Given the description of an element on the screen output the (x, y) to click on. 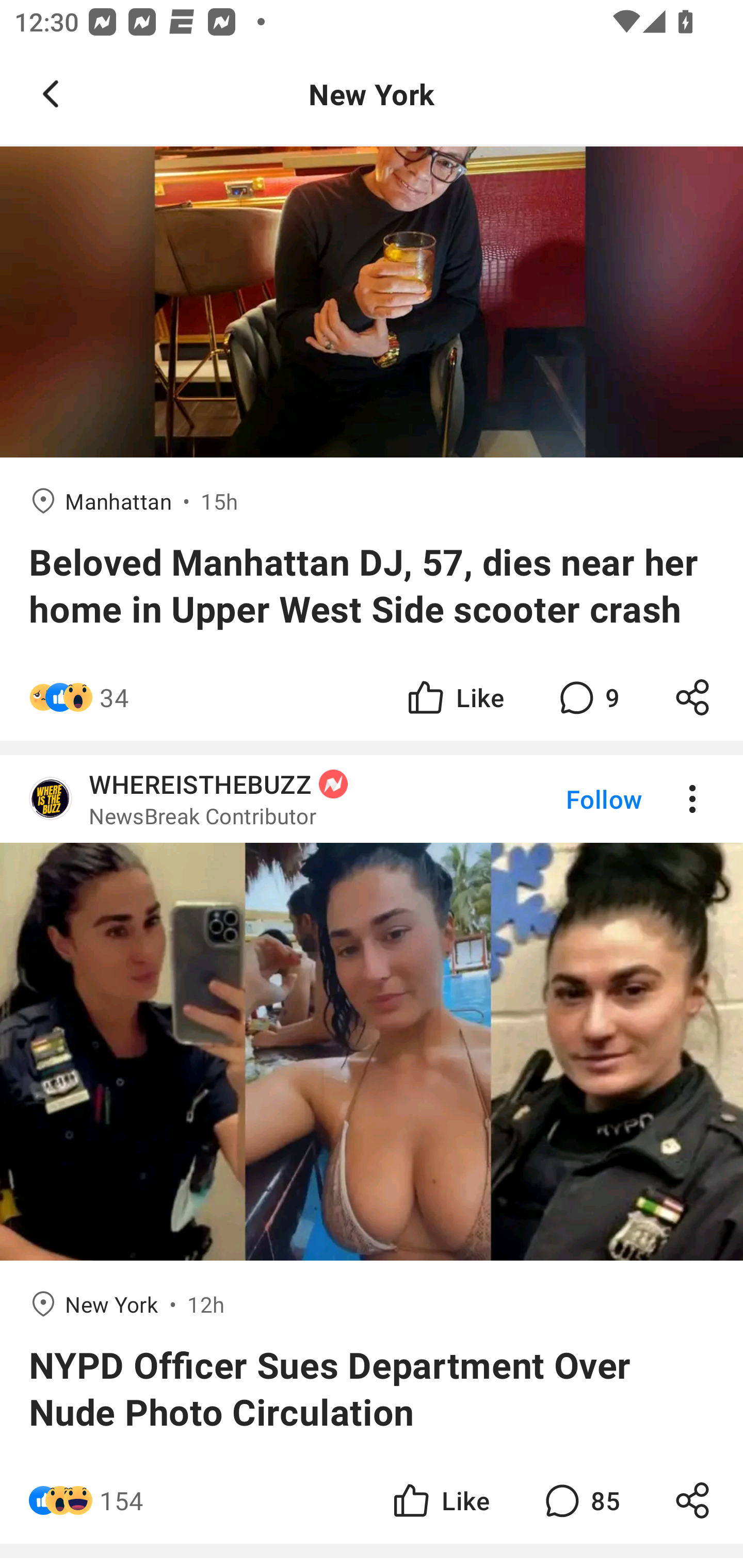
Navigate up (50, 93)
34 (114, 696)
Like (454, 696)
9 (587, 696)
WHEREISTHEBUZZ NewsBreak Contributor Follow (371, 799)
Follow (569, 799)
154 (121, 1500)
Like (439, 1500)
85 (579, 1500)
